Given the description of an element on the screen output the (x, y) to click on. 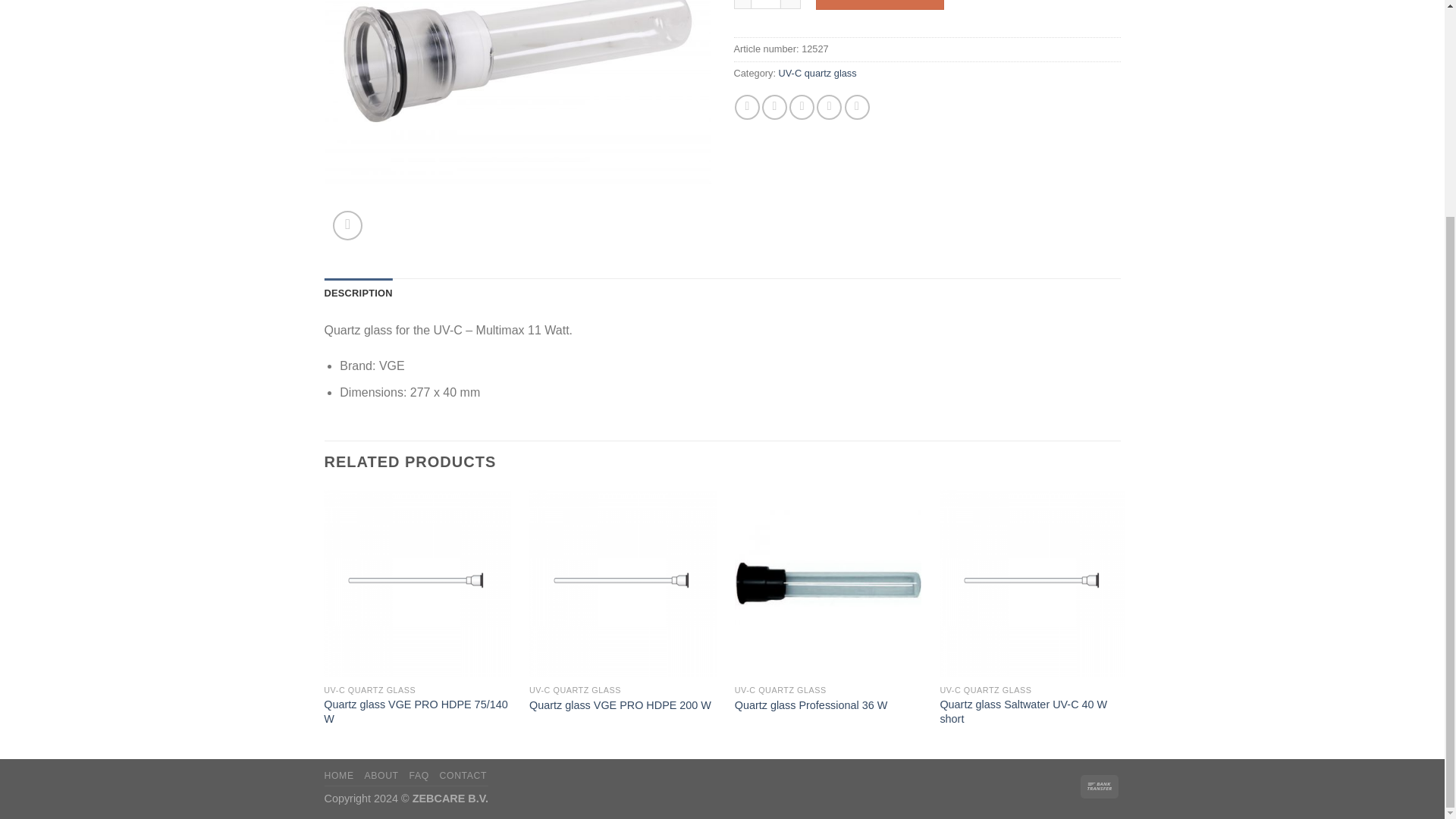
UV-C quartz glass (817, 72)
Qty (765, 4)
Share on Twitter (774, 107)
Email to a Friend (801, 107)
Zoom (347, 225)
Quartz glass multimax (517, 124)
ADD TO QUOTE (879, 4)
Pin on Pinterest (828, 107)
- (742, 4)
Share on Facebook (747, 107)
1 (765, 4)
